Given the description of an element on the screen output the (x, y) to click on. 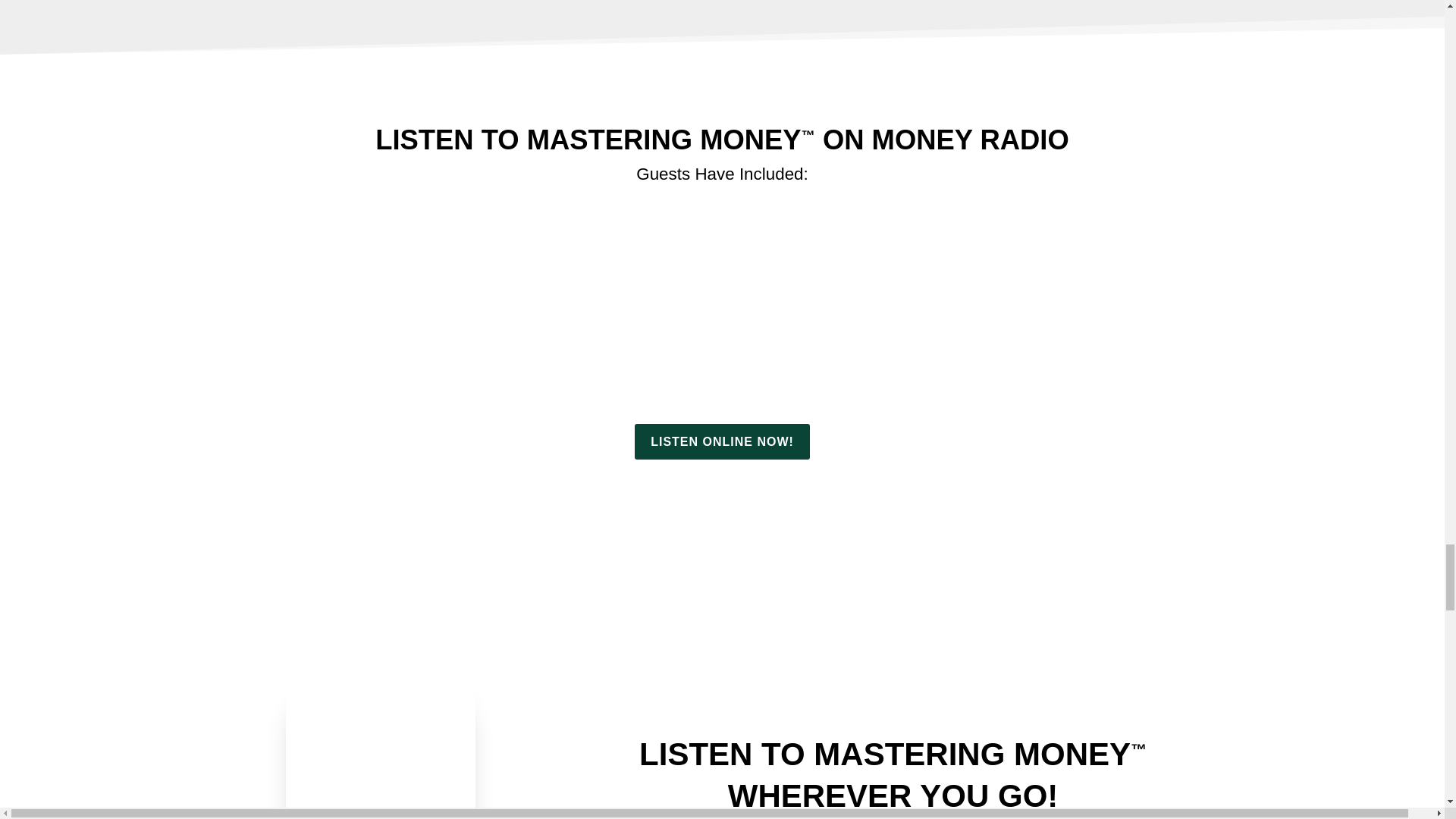
Money radio big image (722, 581)
larry-kudlow (721, 367)
steve-forbes (334, 367)
Gary Kaltbaum (528, 367)
charles-payne (917, 367)
john-bogle (1110, 367)
